Given the description of an element on the screen output the (x, y) to click on. 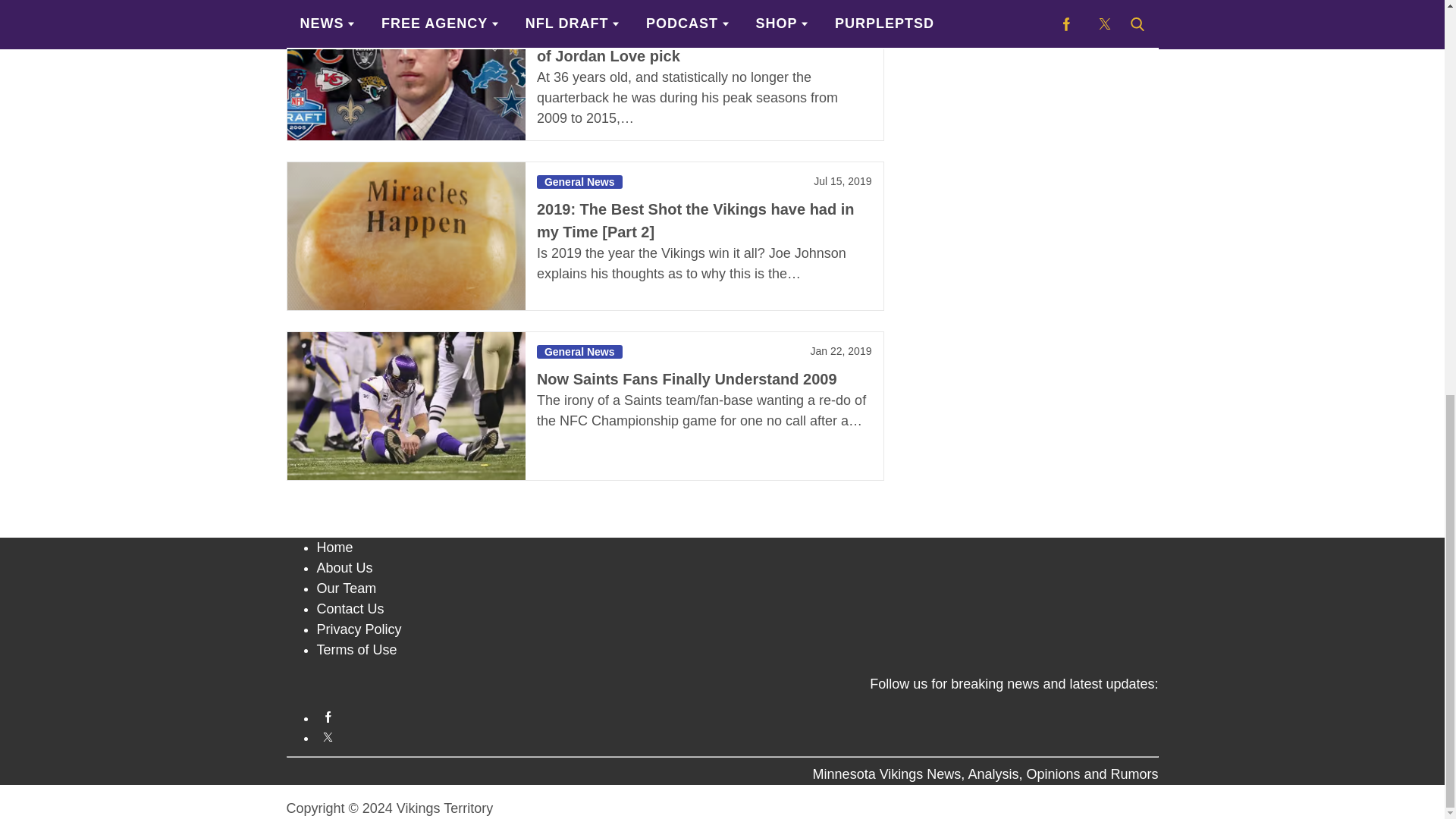
Follow us on Facebook (737, 716)
General News (580, 6)
General News (580, 182)
Now Saints Fans Finally Understand 2009 (405, 405)
Follow us on Twitter (737, 736)
Home (335, 547)
